Given the description of an element on the screen output the (x, y) to click on. 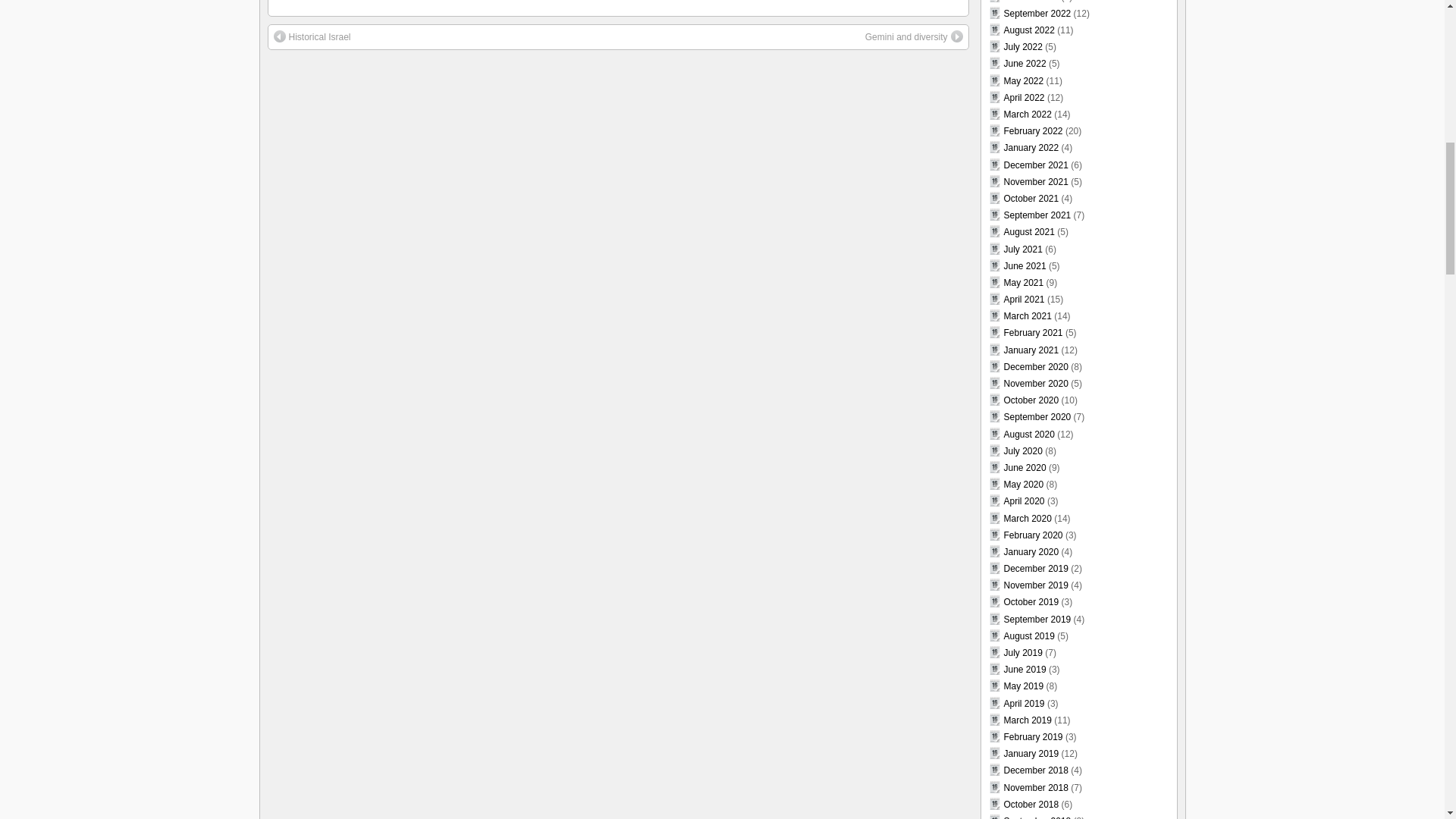
  Historical Israel (311, 37)
  Gemini and diversity (913, 37)
October 2022 (1031, 1)
